Given the description of an element on the screen output the (x, y) to click on. 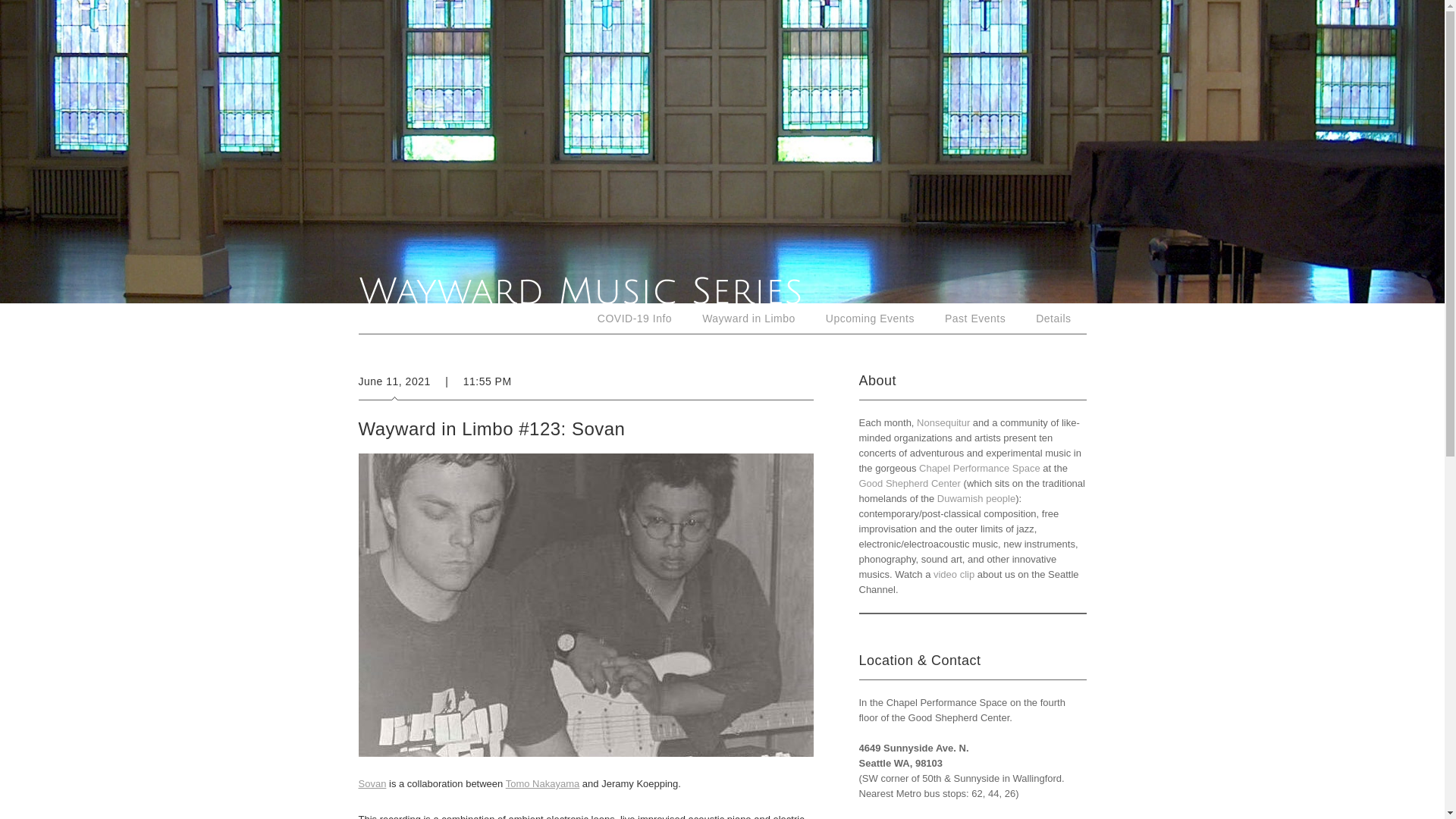
Sovan (371, 783)
Upcoming Events (870, 318)
Good Shepherd Center (909, 482)
COVID-19 Info (634, 318)
Details (1053, 318)
video clip (953, 573)
Past Events (975, 318)
Wayward in Limbo (748, 318)
Duwamish people (975, 498)
Nonsequitur (943, 422)
Chapel Performance Space (979, 468)
Tomo Nakayama (542, 783)
